Given the description of an element on the screen output the (x, y) to click on. 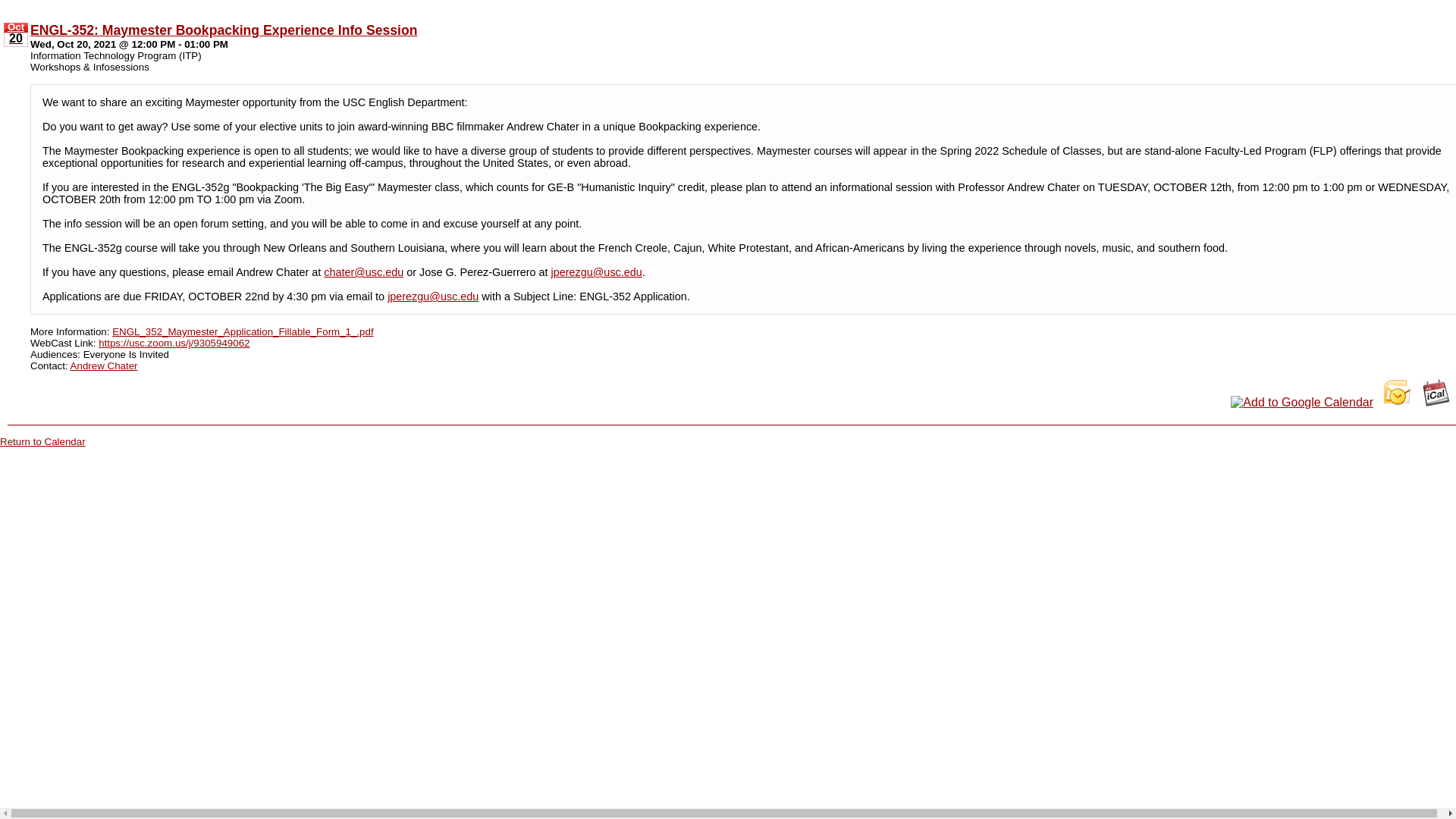
Andrew Chater (103, 364)
ENGL-352: Maymester Bookpacking Experience Info Session (223, 28)
Oct (15, 26)
Send Email to Andrew Chater (103, 364)
20 (15, 38)
